Given the description of an element on the screen output the (x, y) to click on. 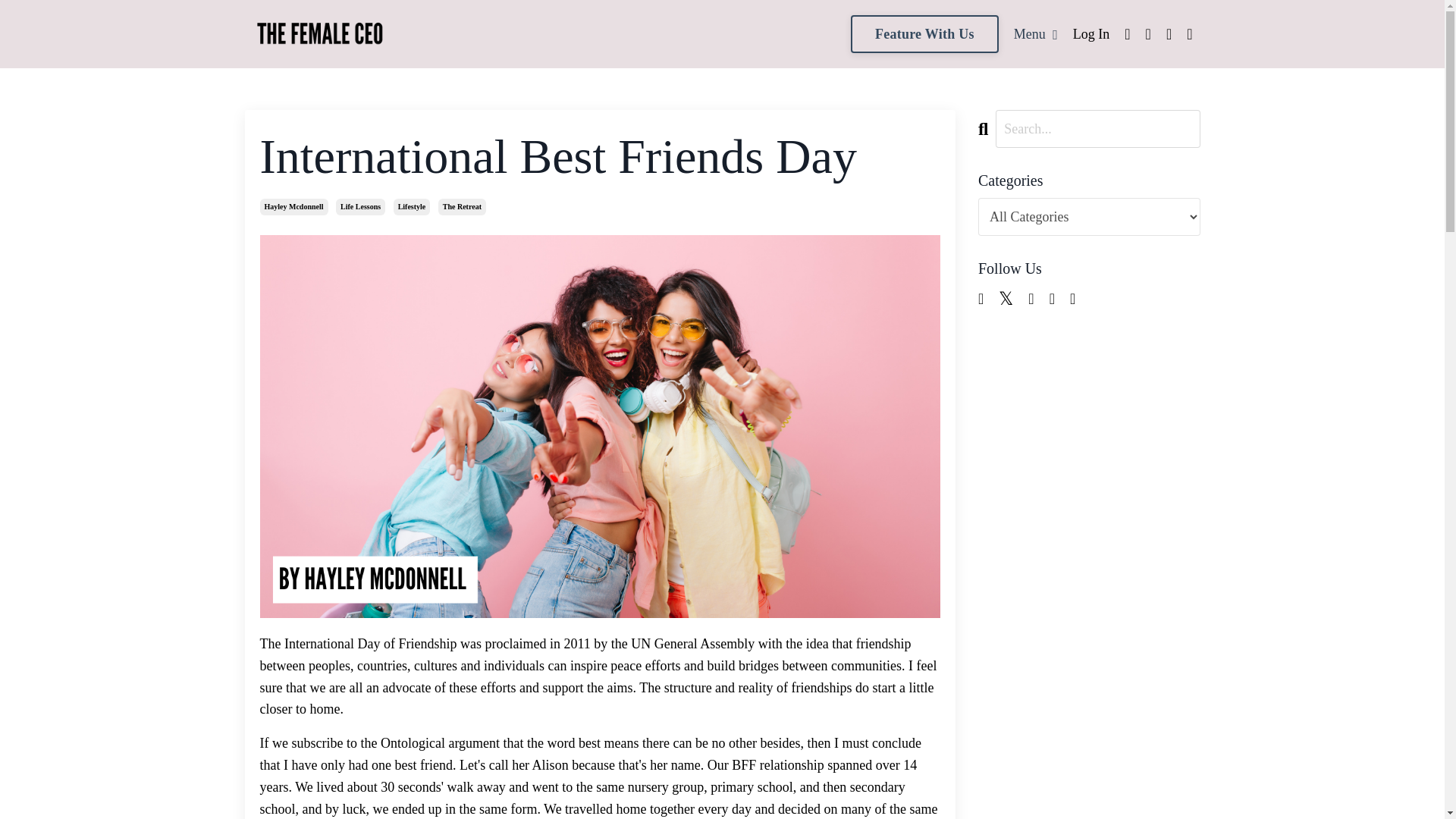
Menu (1035, 34)
The Retreat (462, 207)
Feature With Us (924, 34)
Lifestyle (411, 207)
Life Lessons (360, 207)
Log In (1091, 33)
Hayley Mcdonnell (293, 207)
